Given the description of an element on the screen output the (x, y) to click on. 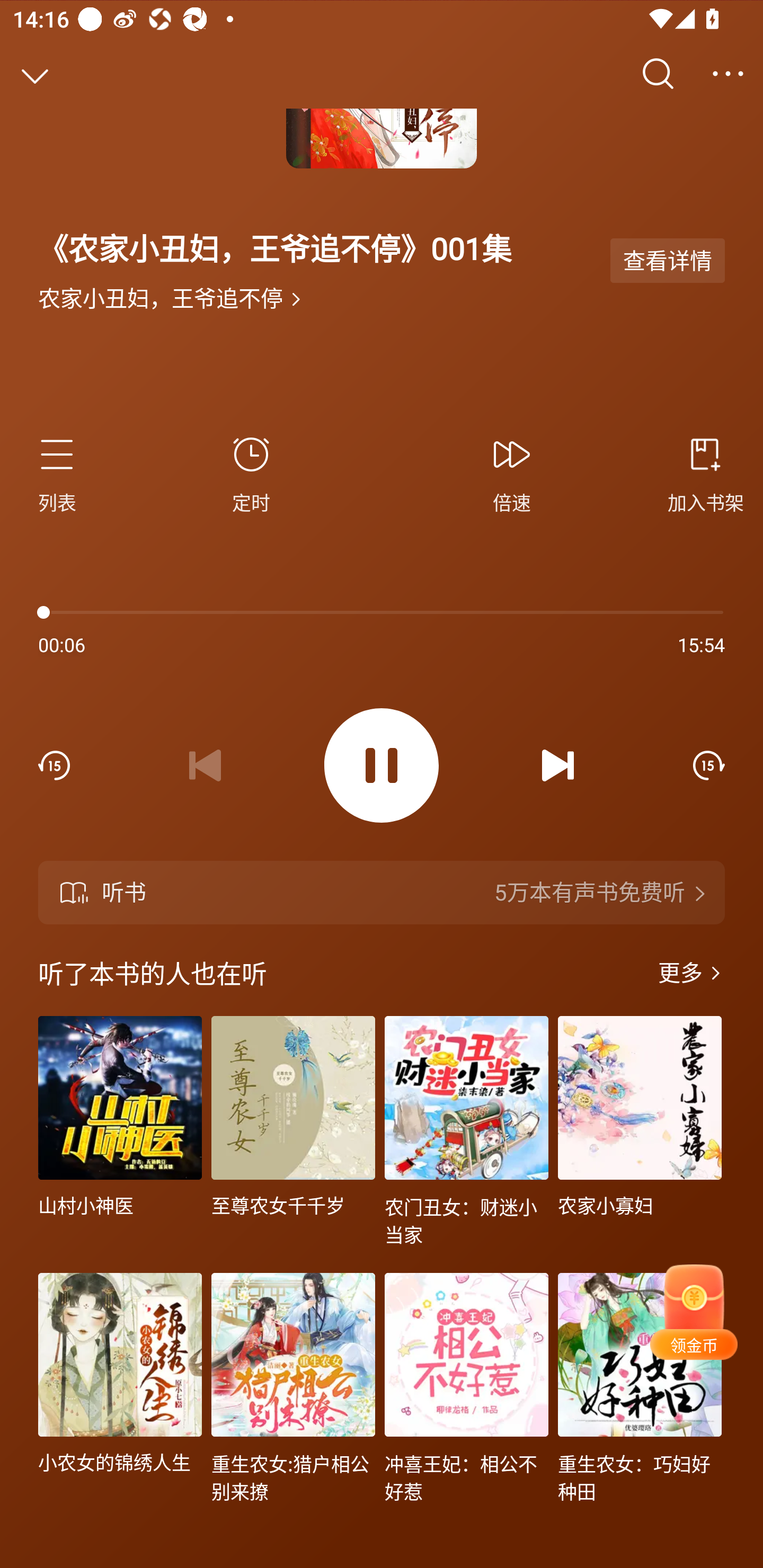
返回 (35, 73)
搜索 (657, 73)
更多 (727, 73)
查看详情 查看详情，按钮 (667, 260)
列表，按钮 列表 (64, 472)
定时，按钮 定时 (250, 472)
倍速，按钮 倍速 (511, 472)
加入书架，按钮 加入书架 (697, 472)
暂停 (381, 765)
后退十五秒 (53, 764)
上一篇 (204, 764)
下一篇 (557, 764)
前进十五秒 (708, 764)
听书 5万本有声书免费听 (381, 892)
更多 (690, 972)
